Given the description of an element on the screen output the (x, y) to click on. 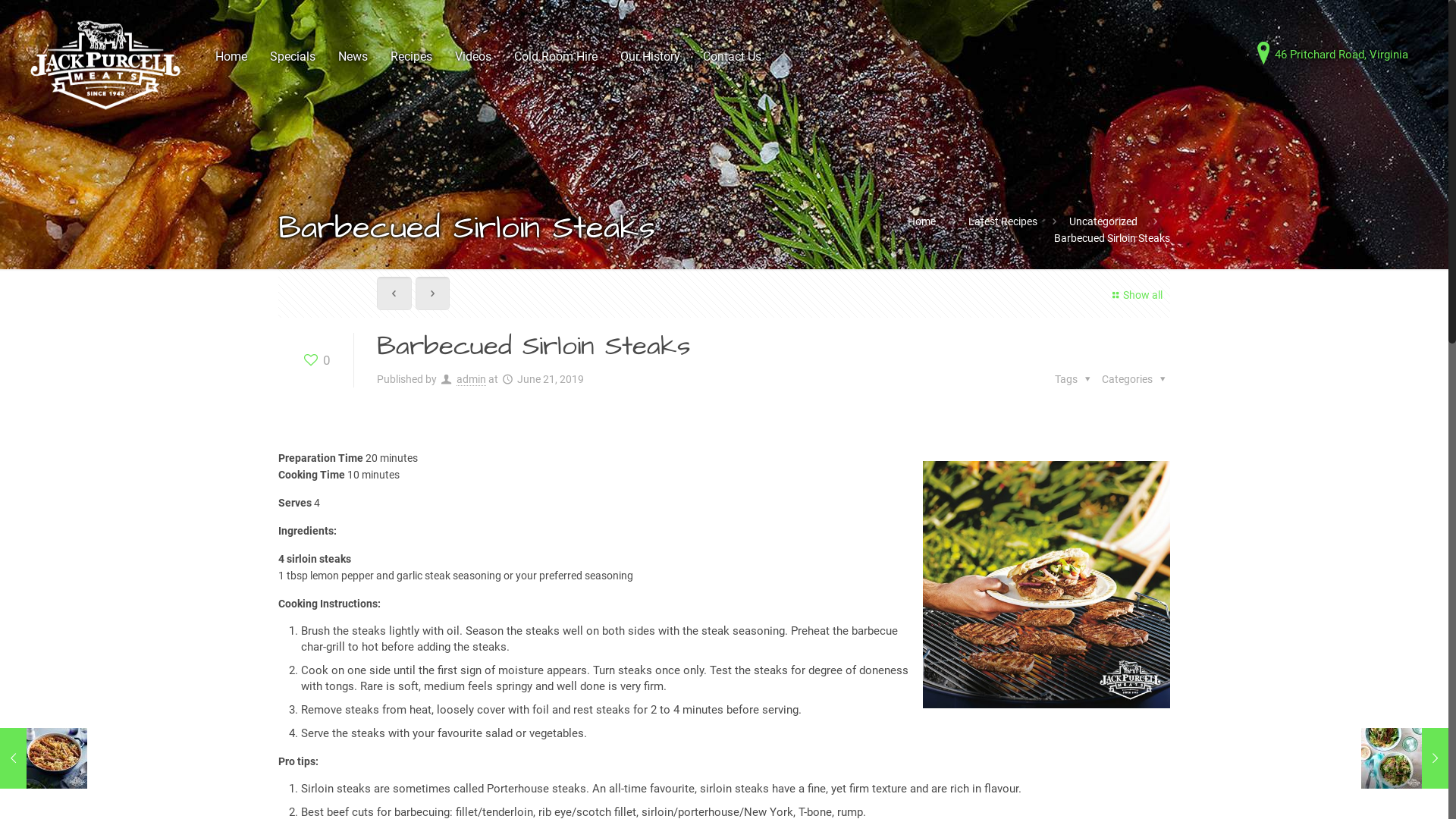
News Element type: text (352, 56)
Our History Element type: text (649, 56)
Home Element type: text (921, 221)
46 Pritchard Road, Virginia Element type: text (1331, 54)
Home Element type: text (230, 56)
Show all Element type: text (1134, 294)
Barbecued Sirloin Steaks Element type: text (1112, 238)
Videos Element type: text (472, 56)
Jack Purcell Meats Element type: hover (105, 64)
Recipes Element type: text (411, 56)
Contact Us Element type: text (731, 56)
Specials Element type: text (292, 56)
admin Element type: text (471, 379)
0 Element type: text (315, 359)
Uncategorized Element type: text (1103, 221)
Latest Recipes Element type: text (1002, 221)
Cold Room Hire Element type: text (555, 56)
